Given the description of an element on the screen output the (x, y) to click on. 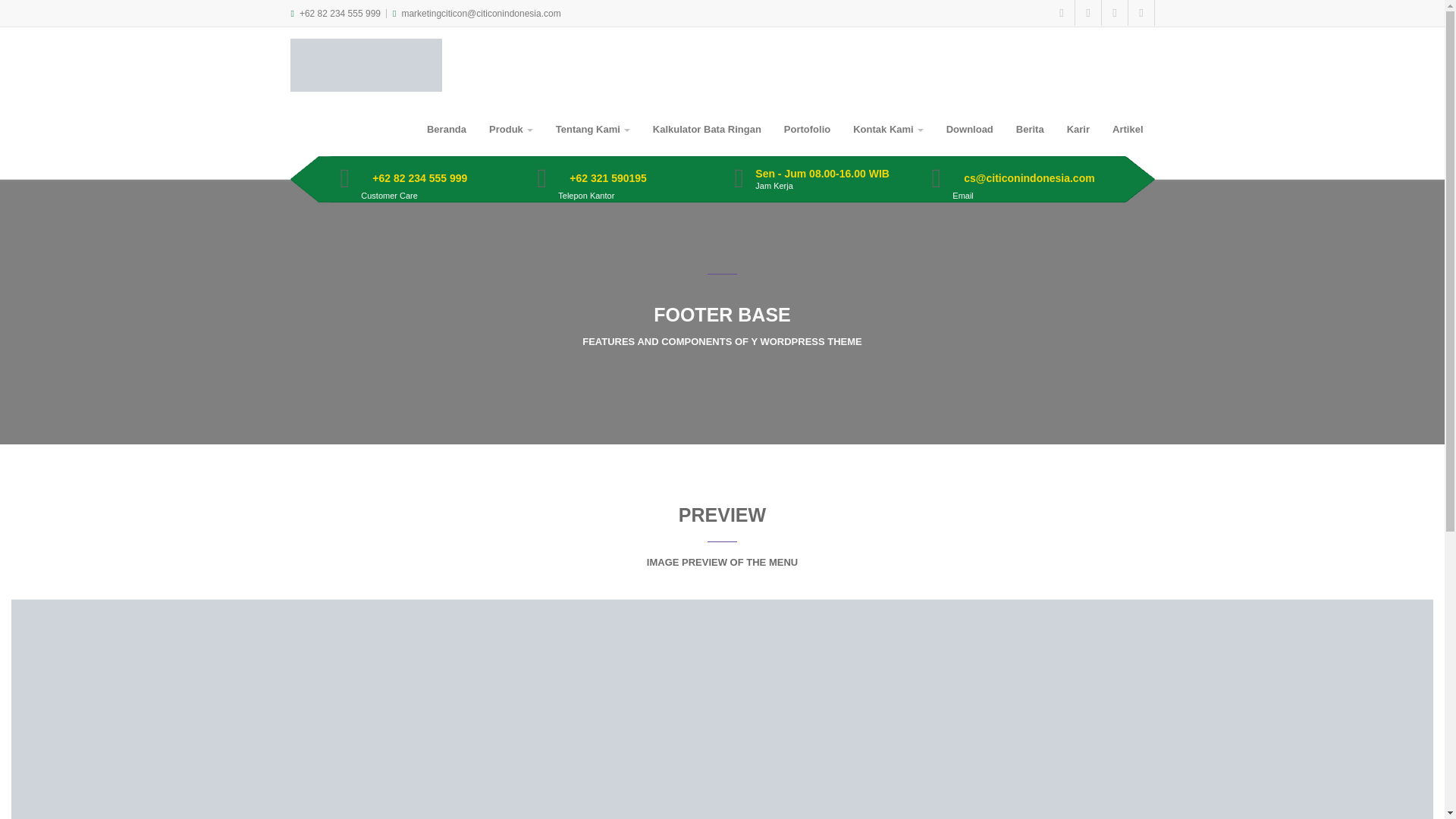
Beranda (445, 129)
Artikel (1127, 129)
Tentang Kami (593, 129)
Kontak Kami (887, 129)
Produk (510, 129)
Portofolio (807, 129)
Kalkulator Bata Ringan (707, 129)
Download (969, 129)
Berita (1029, 129)
